Given the description of an element on the screen output the (x, y) to click on. 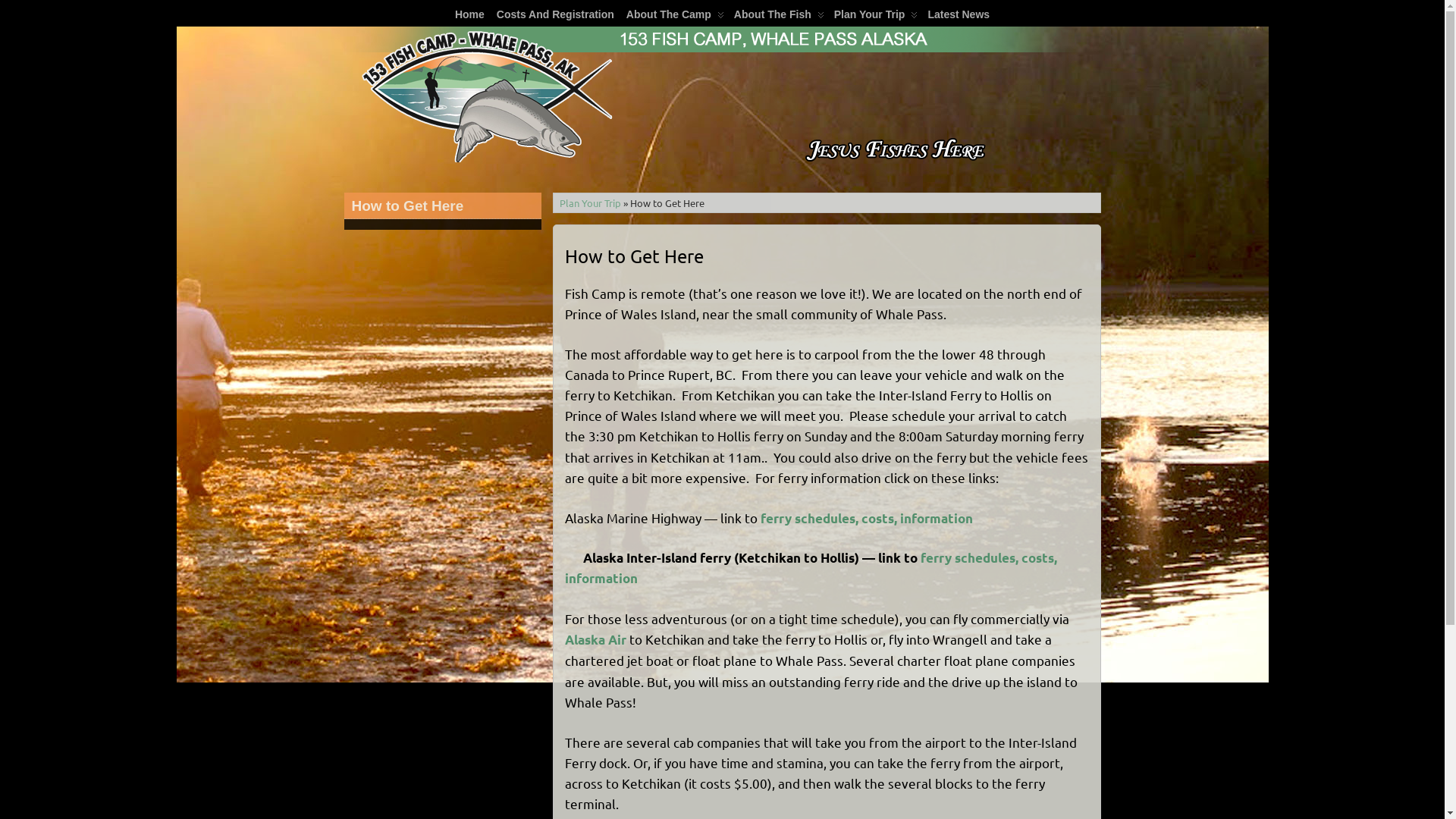
ferry schedules, costs, information Element type: text (810, 567)
Alaska Air Element type: text (594, 639)
Latest News Element type: text (958, 13)
 Plan Your Trip Element type: text (875, 13)
ferry schedules, costs, information Element type: text (865, 517)
 About The Fish Element type: text (778, 13)
Home Element type: text (469, 13)
Plan Your Trip Element type: text (590, 202)
 About The Camp Element type: text (674, 13)
Costs And Registration Element type: text (555, 13)
